Given the description of an element on the screen output the (x, y) to click on. 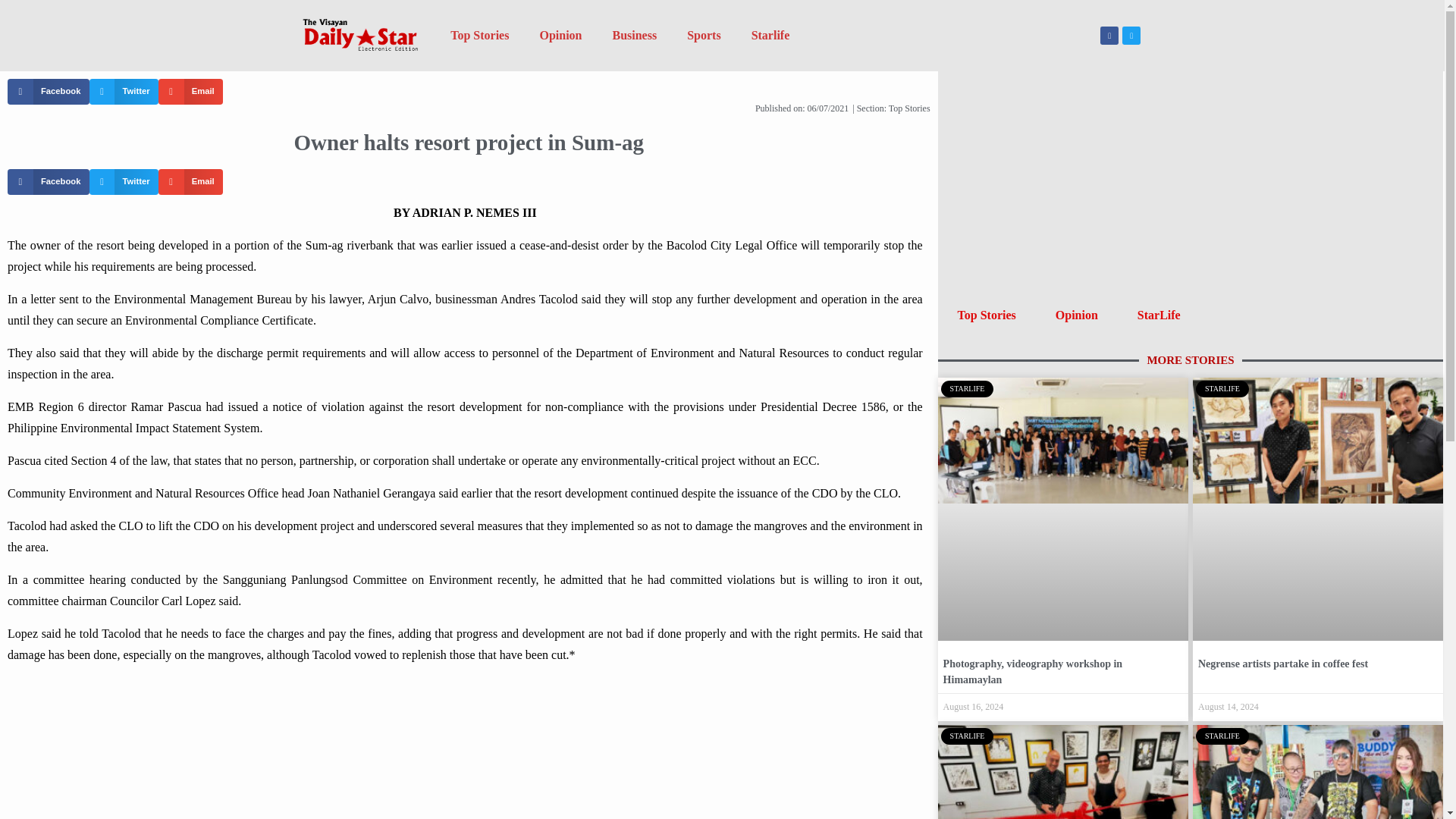
Sports (703, 35)
Opinion (1076, 314)
Opinion (560, 35)
Negrense artists partake in coffee fest (1283, 663)
Business (633, 35)
Photography, videography workshop in Himamaylan (1032, 671)
Starlife (770, 35)
Top Stories (479, 35)
Top Stories (909, 108)
StarLife (1158, 314)
